Given the description of an element on the screen output the (x, y) to click on. 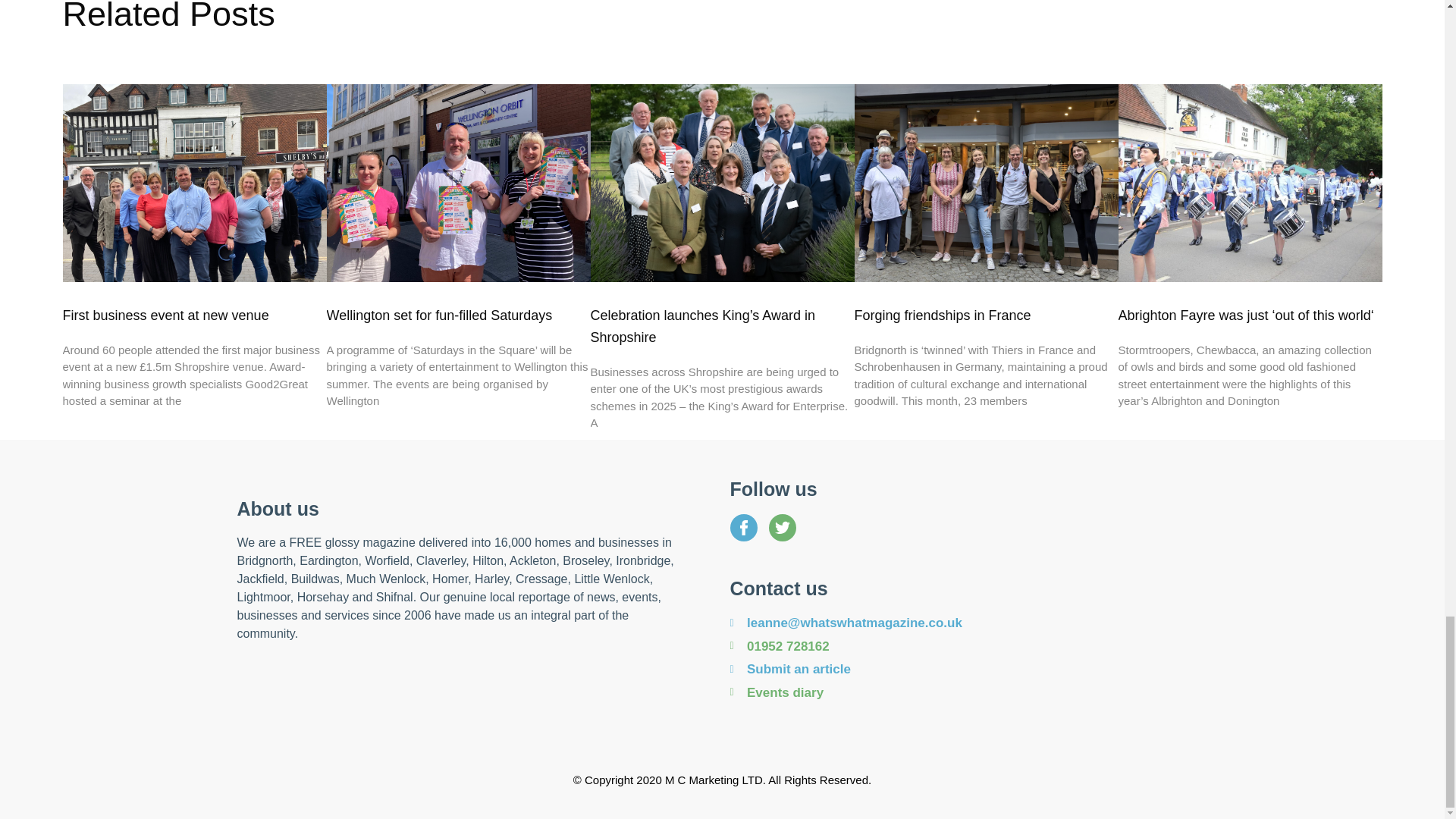
Forging friendships in France (941, 314)
01952 728162 (968, 646)
Wellington set for fun-filled Saturdays (438, 314)
First business event at new venue (164, 314)
Submit an article (968, 669)
